Given the description of an element on the screen output the (x, y) to click on. 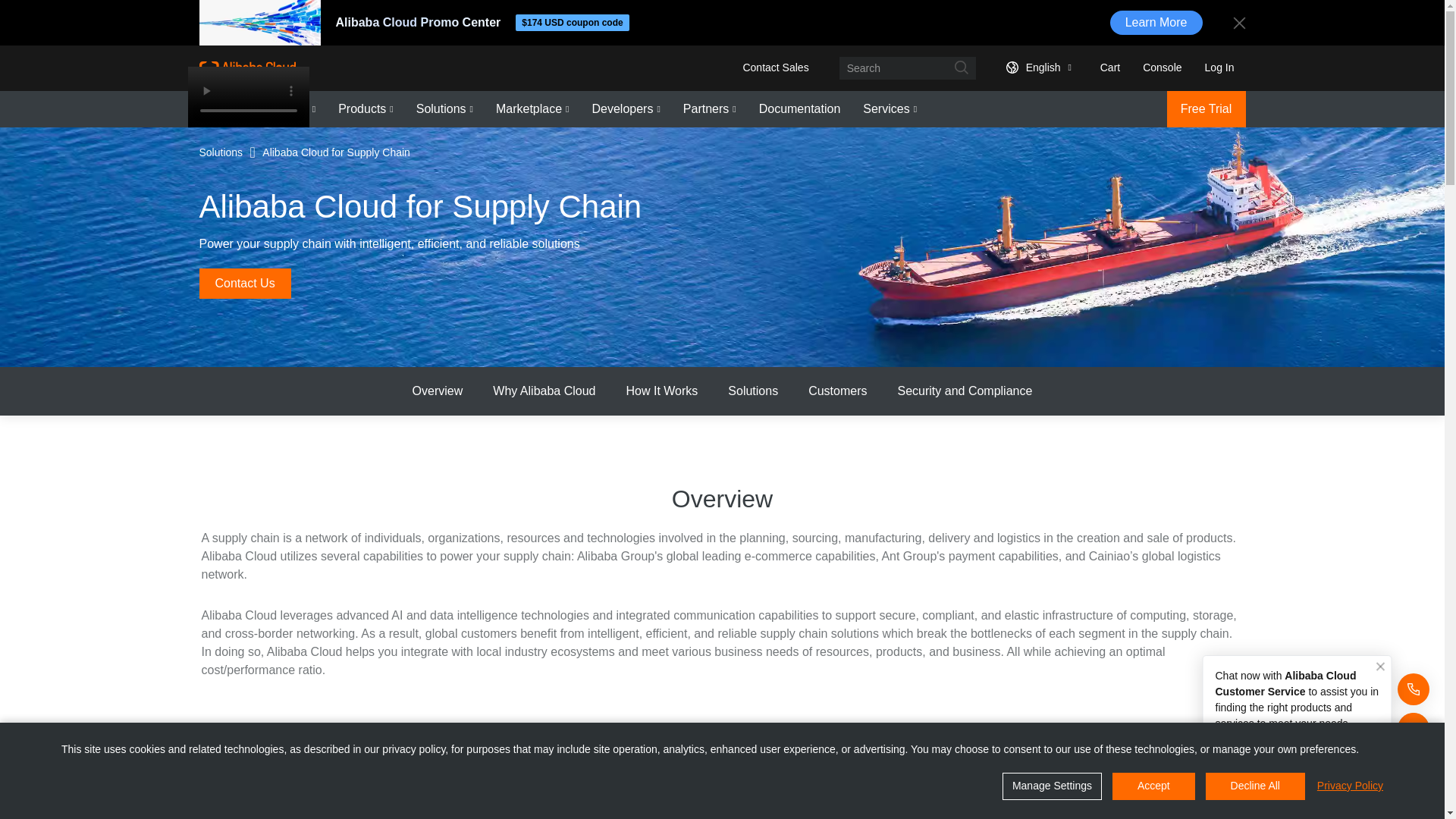
Contact Sales (774, 67)
Alibaba Cloud (246, 67)
English (1035, 67)
